Given the description of an element on the screen output the (x, y) to click on. 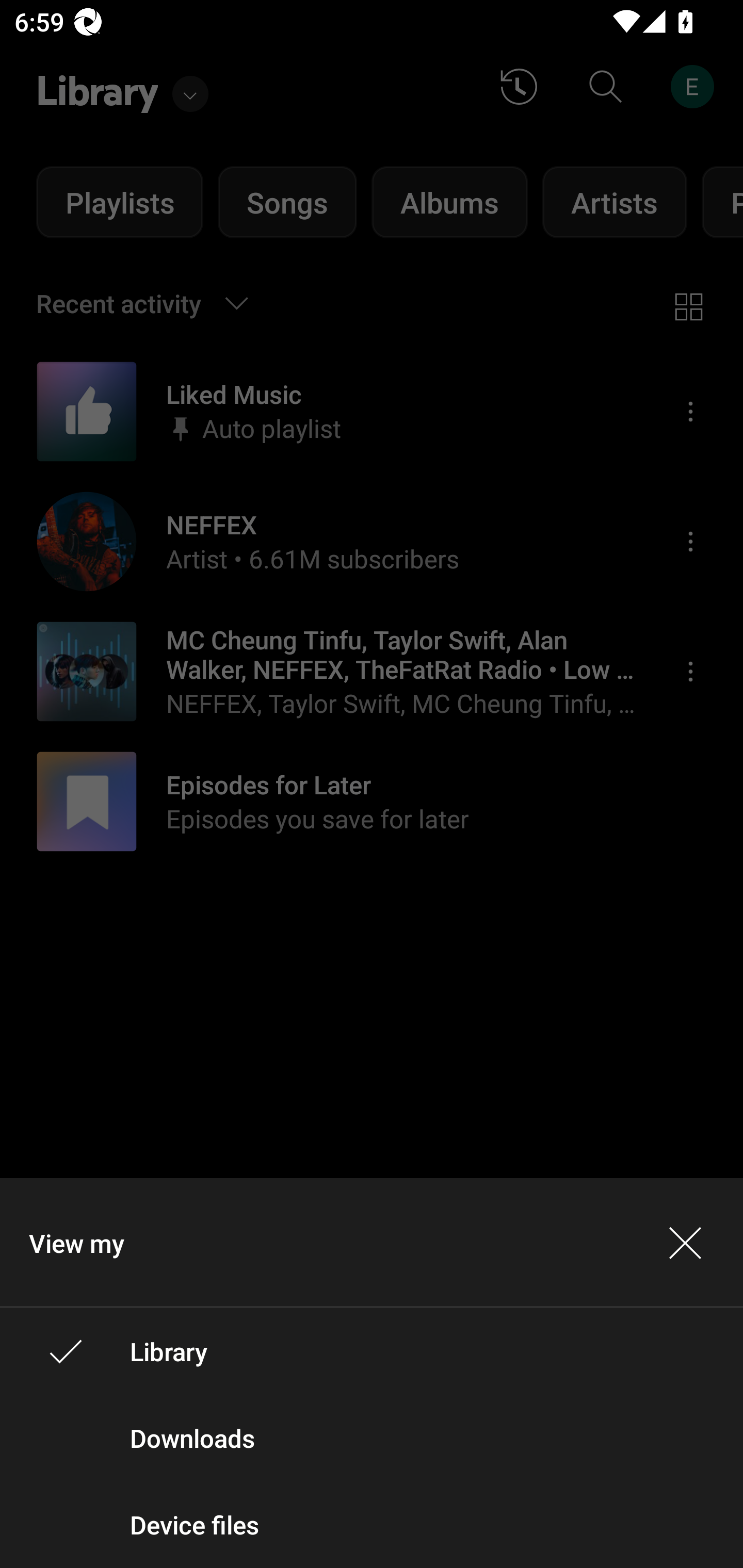
Close (684, 1242)
Library (371, 1350)
Downloads (371, 1437)
Device files (371, 1524)
